Given the description of an element on the screen output the (x, y) to click on. 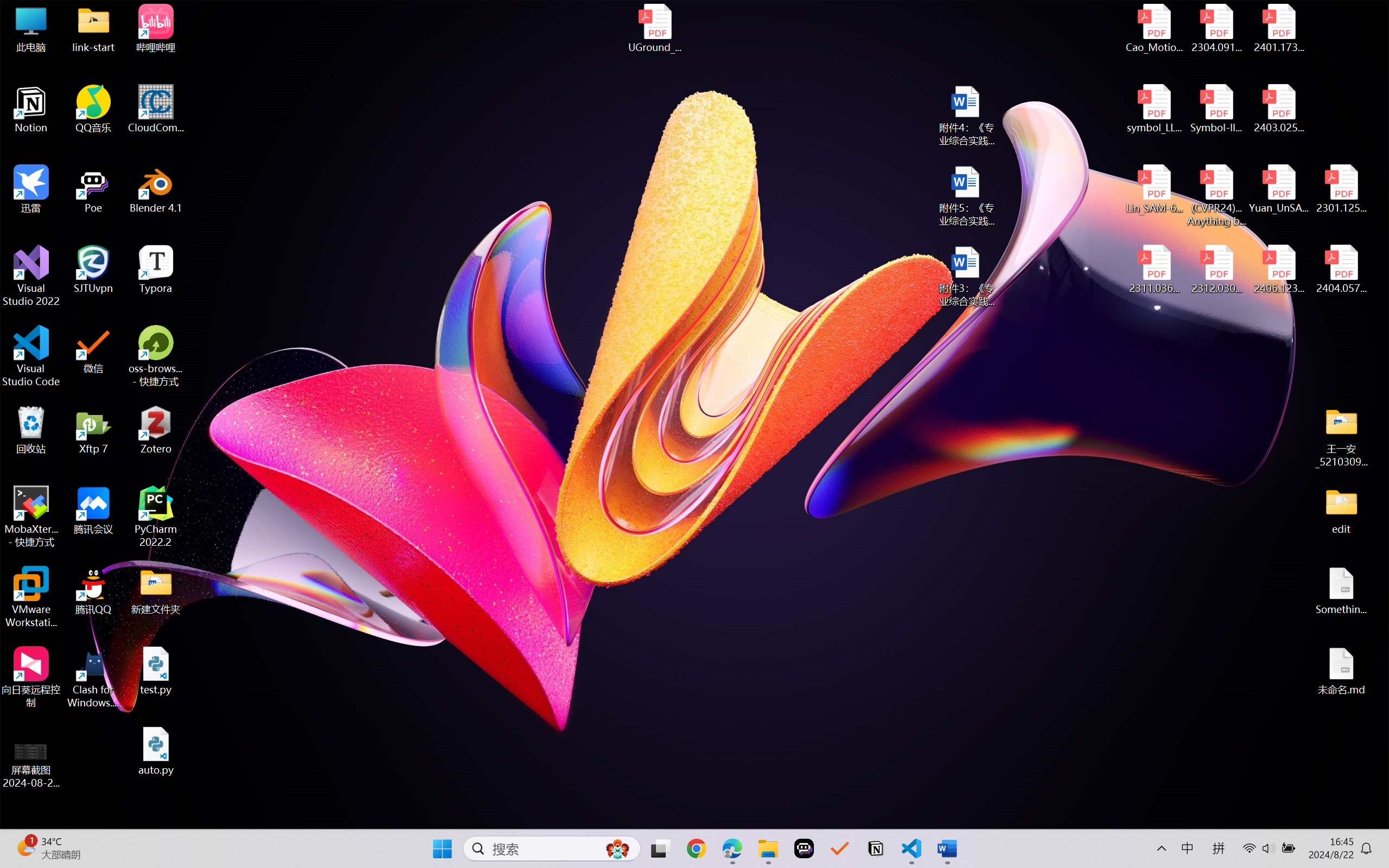
2301.12597v3.pdf (1340, 189)
VMware Workstation Pro (31, 597)
test.py (156, 670)
